Given the description of an element on the screen output the (x, y) to click on. 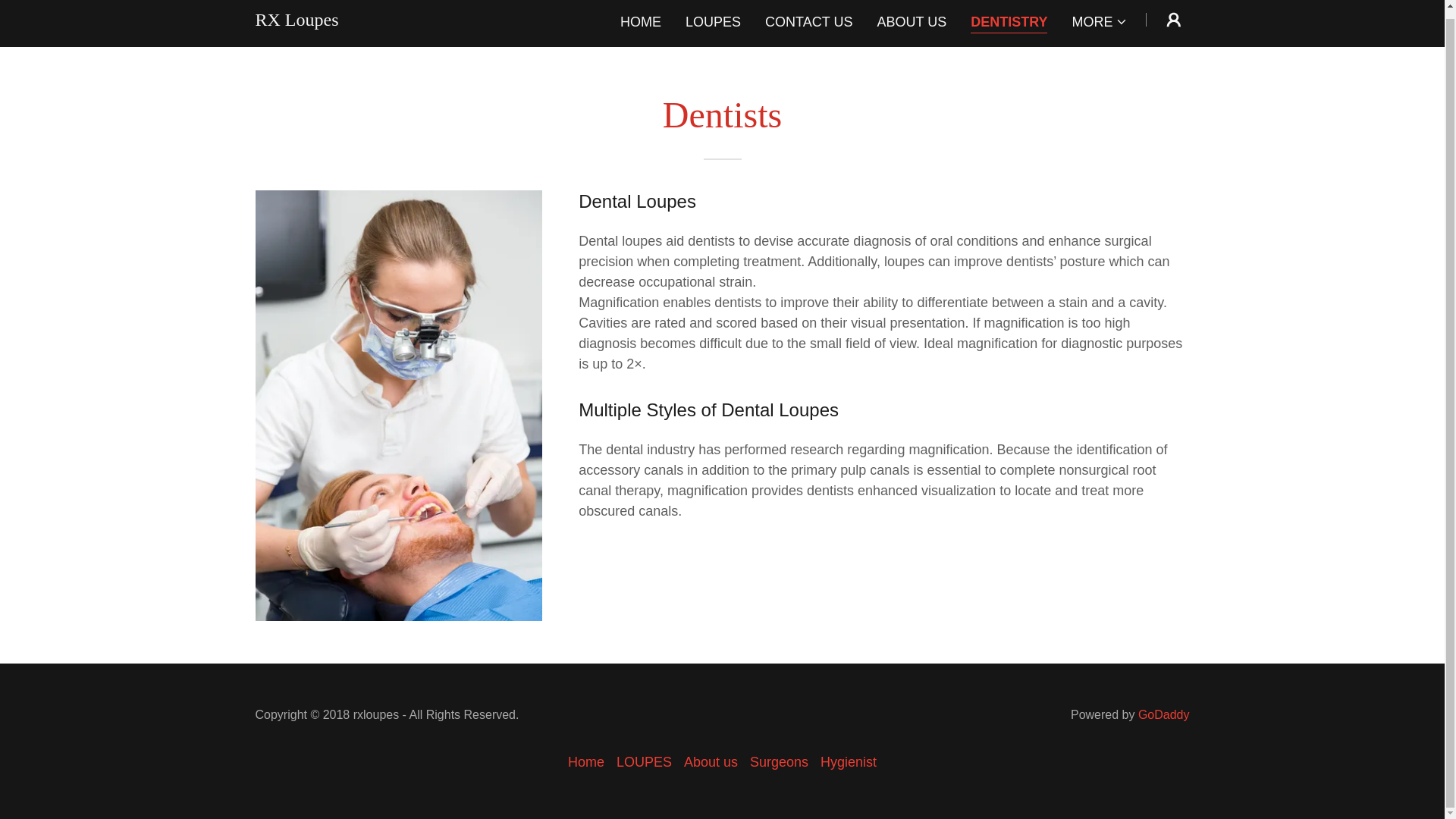
MORE (1098, 21)
Home (586, 762)
CONTACT US (808, 21)
RX Loupes (295, 20)
LOUPES (644, 762)
About us (711, 762)
HOME (640, 21)
GoDaddy (1163, 714)
RX Loupes (295, 20)
ABOUT US (911, 21)
LOUPES (713, 21)
DENTISTRY (1008, 22)
